Given the description of an element on the screen output the (x, y) to click on. 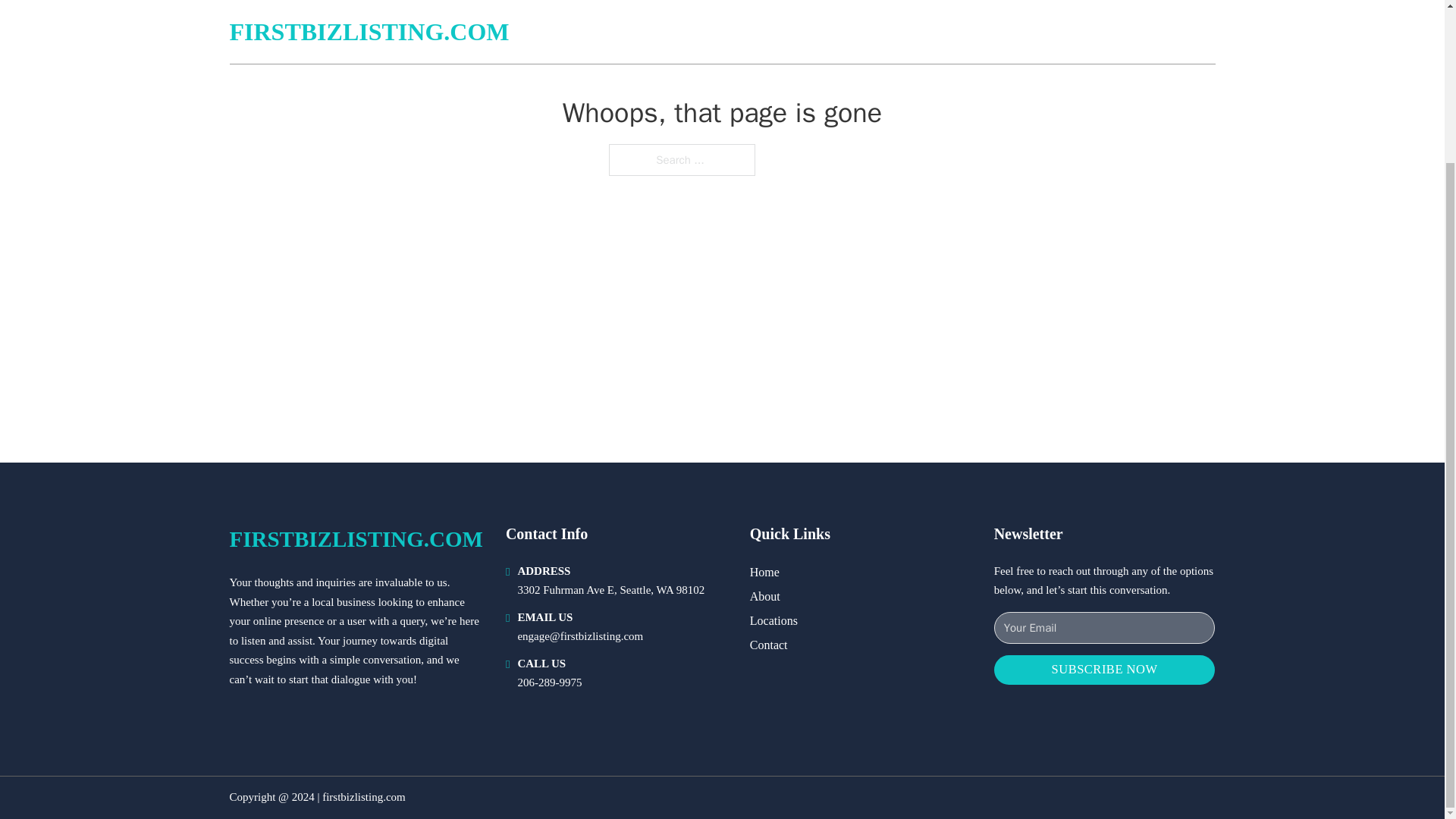
Locations (773, 620)
Contact (768, 644)
206-289-9975 (548, 682)
Home (763, 571)
About (764, 596)
FIRSTBIZLISTING.COM (354, 538)
SUBSCRIBE NOW (1104, 669)
